Given the description of an element on the screen output the (x, y) to click on. 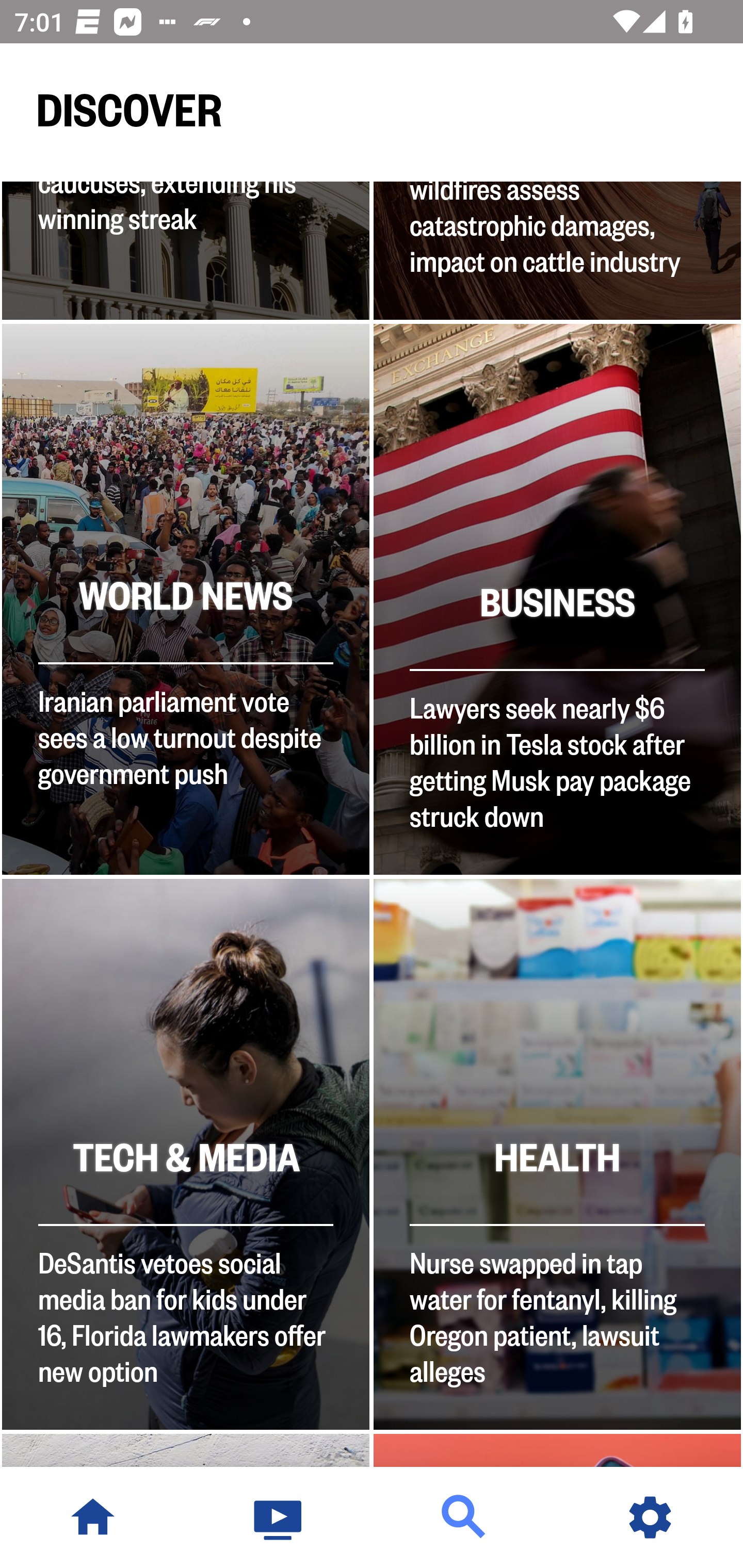
NBC News Home (92, 1517)
Watch (278, 1517)
Settings (650, 1517)
